Given the description of an element on the screen output the (x, y) to click on. 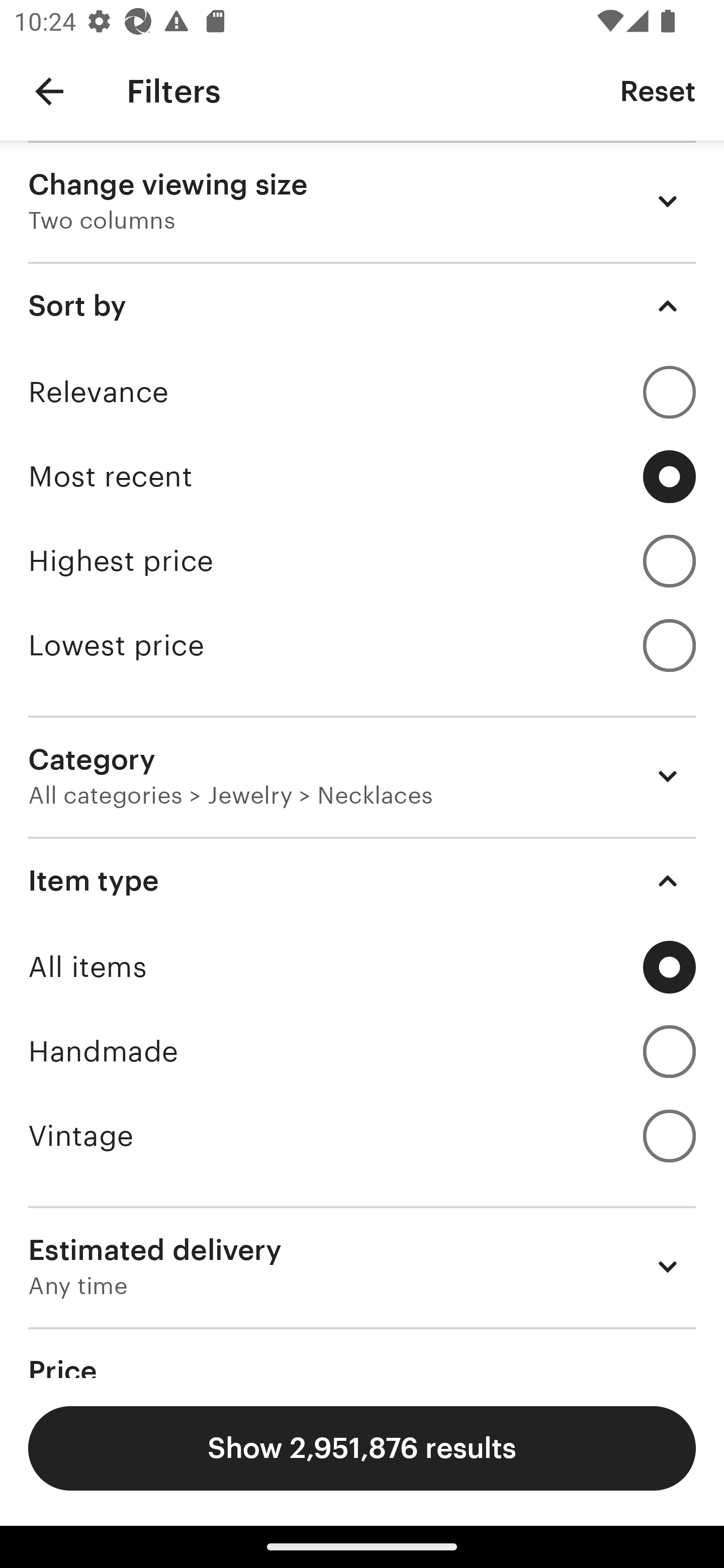
Navigate up (49, 91)
Reset (657, 90)
Change viewing size Two columns (362, 201)
Sort by (362, 305)
Relevance (362, 391)
Most recent (362, 476)
Highest price (362, 561)
Lowest price (362, 644)
Category All categories > Jewelry > Necklaces (362, 776)
Item type (362, 881)
All items (362, 967)
Handmade (362, 1050)
Vintage (362, 1134)
Estimated delivery Any time (362, 1265)
Show 2,951,876 results Show 2,951,914 results (361, 1448)
